Given the description of an element on the screen output the (x, y) to click on. 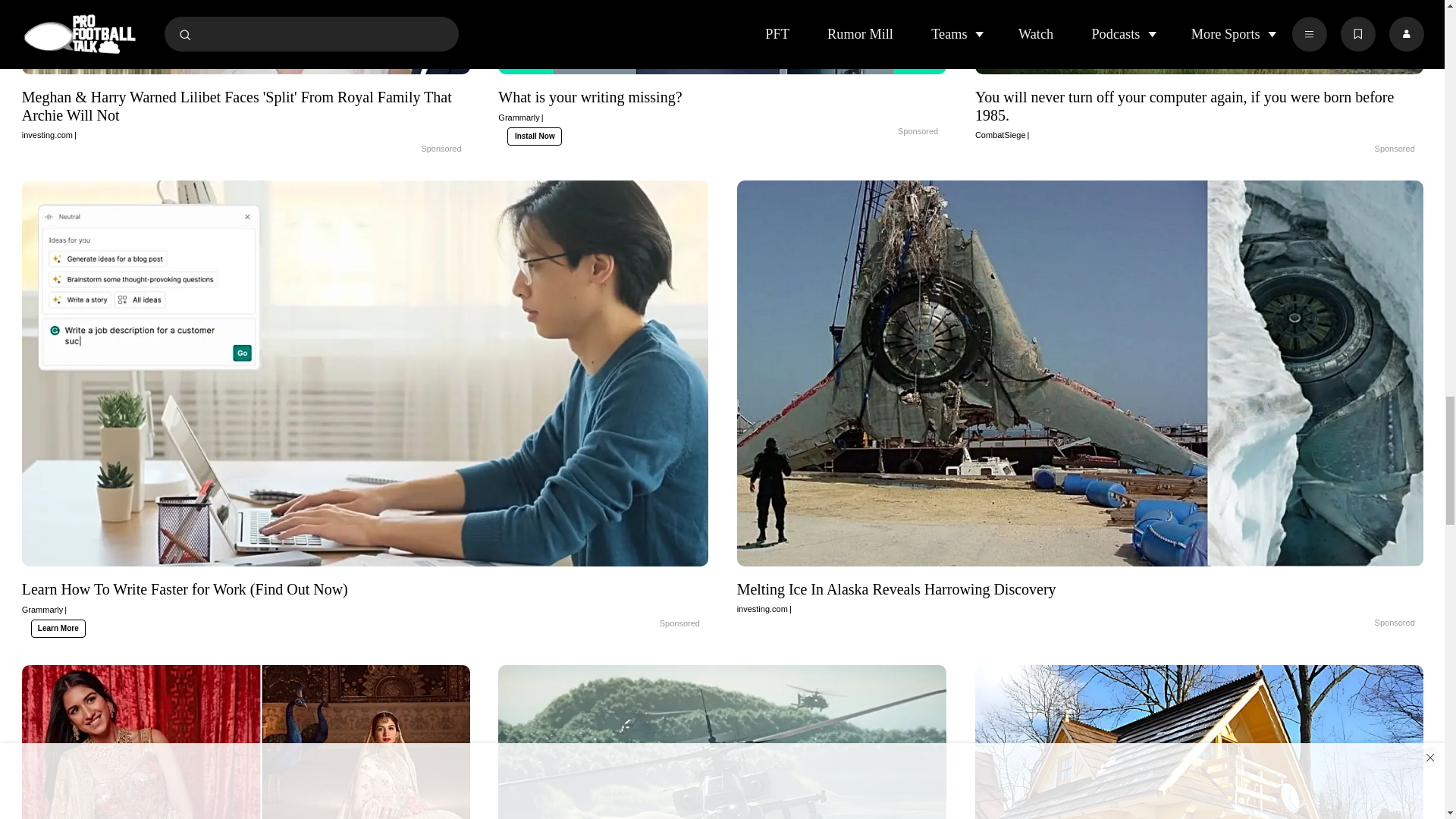
What is your writing missing? (882, 131)
What is your writing missing? (721, 41)
What is your writing missing? (721, 104)
